Given the description of an element on the screen output the (x, y) to click on. 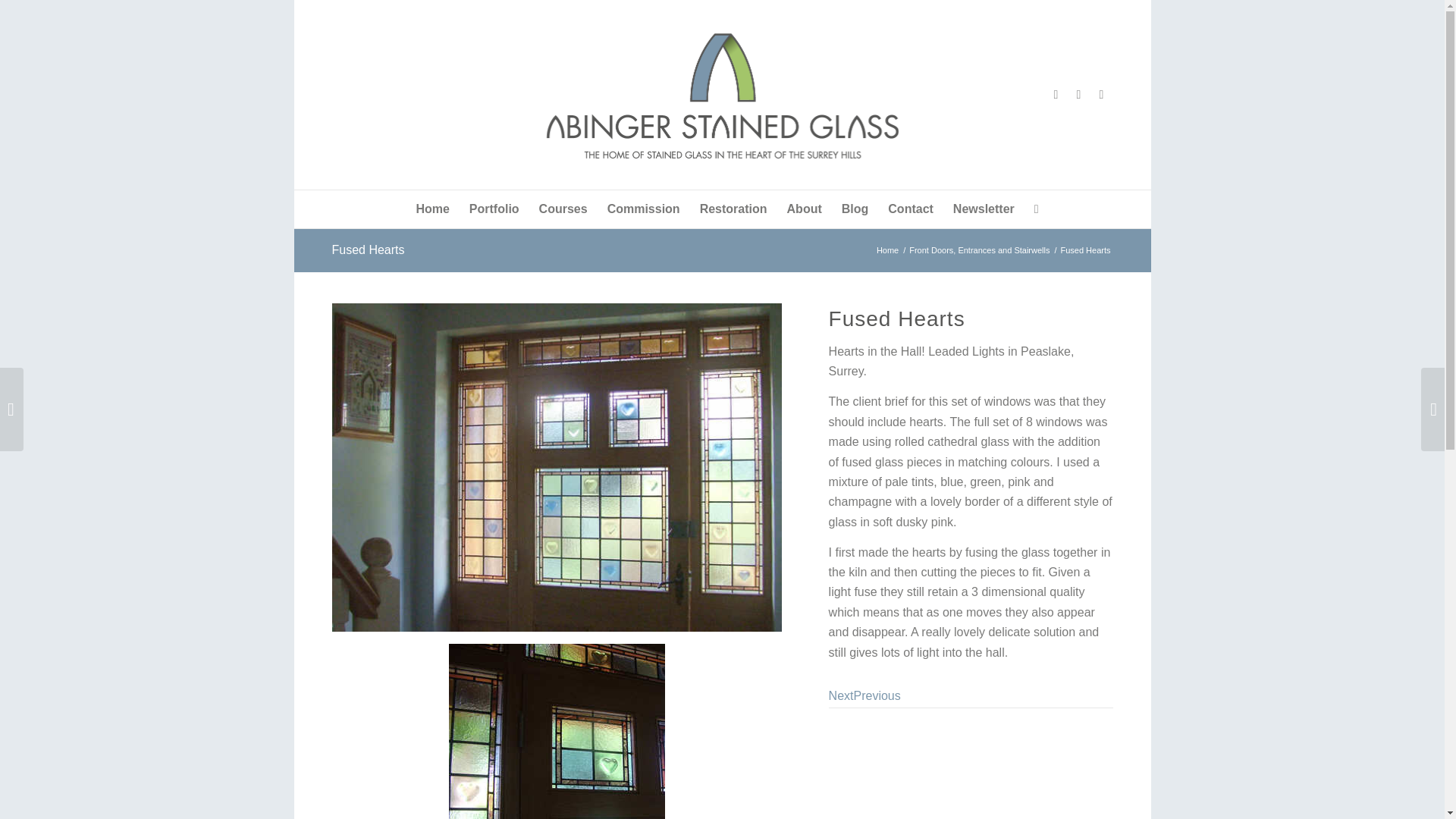
Courses (562, 209)
Portfolio (494, 209)
Commission (643, 209)
Home (432, 209)
About (804, 209)
Next (840, 695)
Permanent Link: Fused Hearts (367, 249)
Fused Hearts (367, 249)
Restoration (733, 209)
Fused Hearts (556, 731)
